Given the description of an element on the screen output the (x, y) to click on. 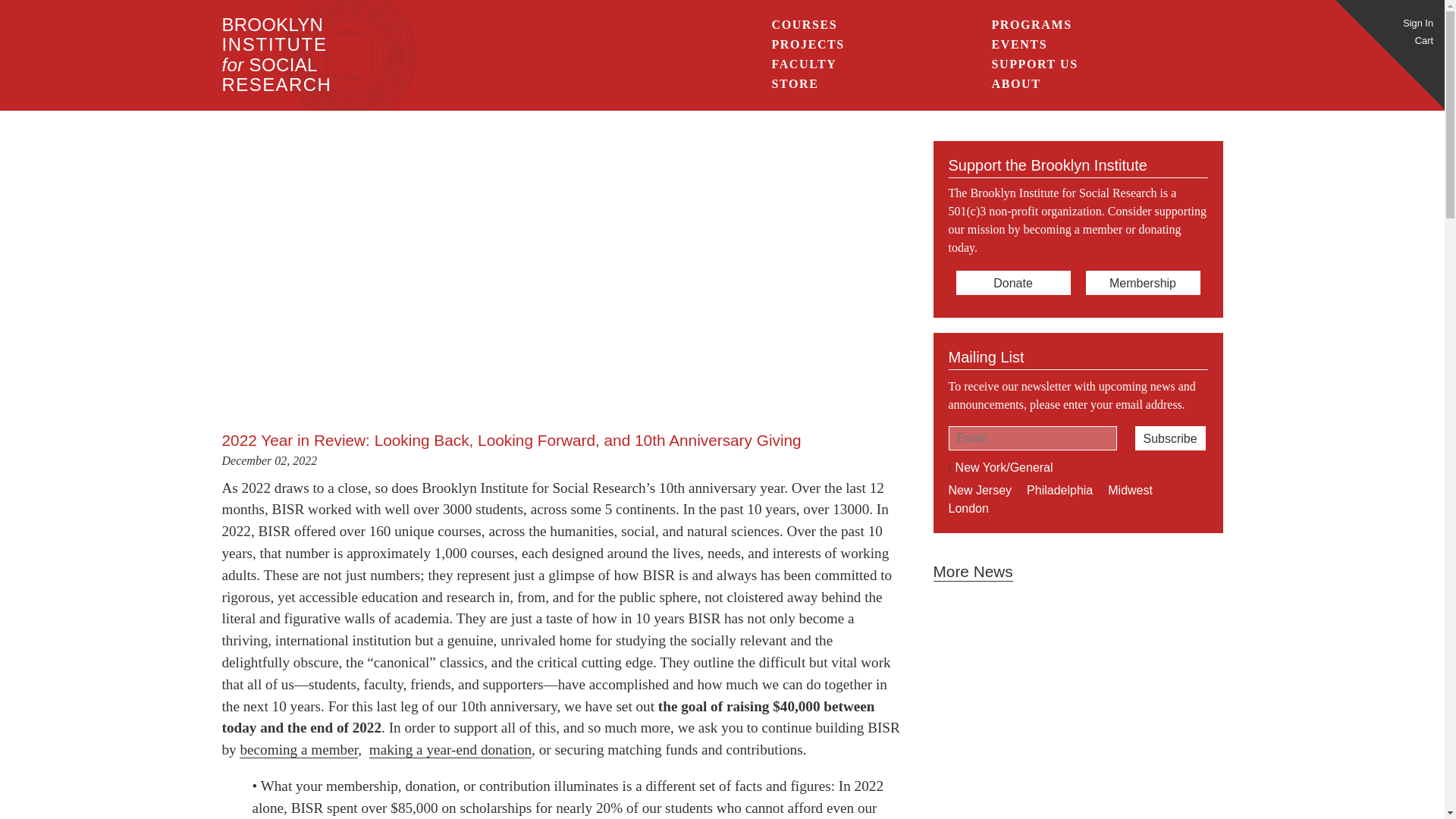
ABOUT (1016, 83)
PROGRAMS (1031, 24)
Brooklyn Institute for Social Research (276, 54)
SUPPORT US (1034, 63)
EVENTS (276, 54)
Subscribe (1019, 43)
FACULTY (1169, 437)
COURSES (804, 63)
STORE (804, 24)
